Given the description of an element on the screen output the (x, y) to click on. 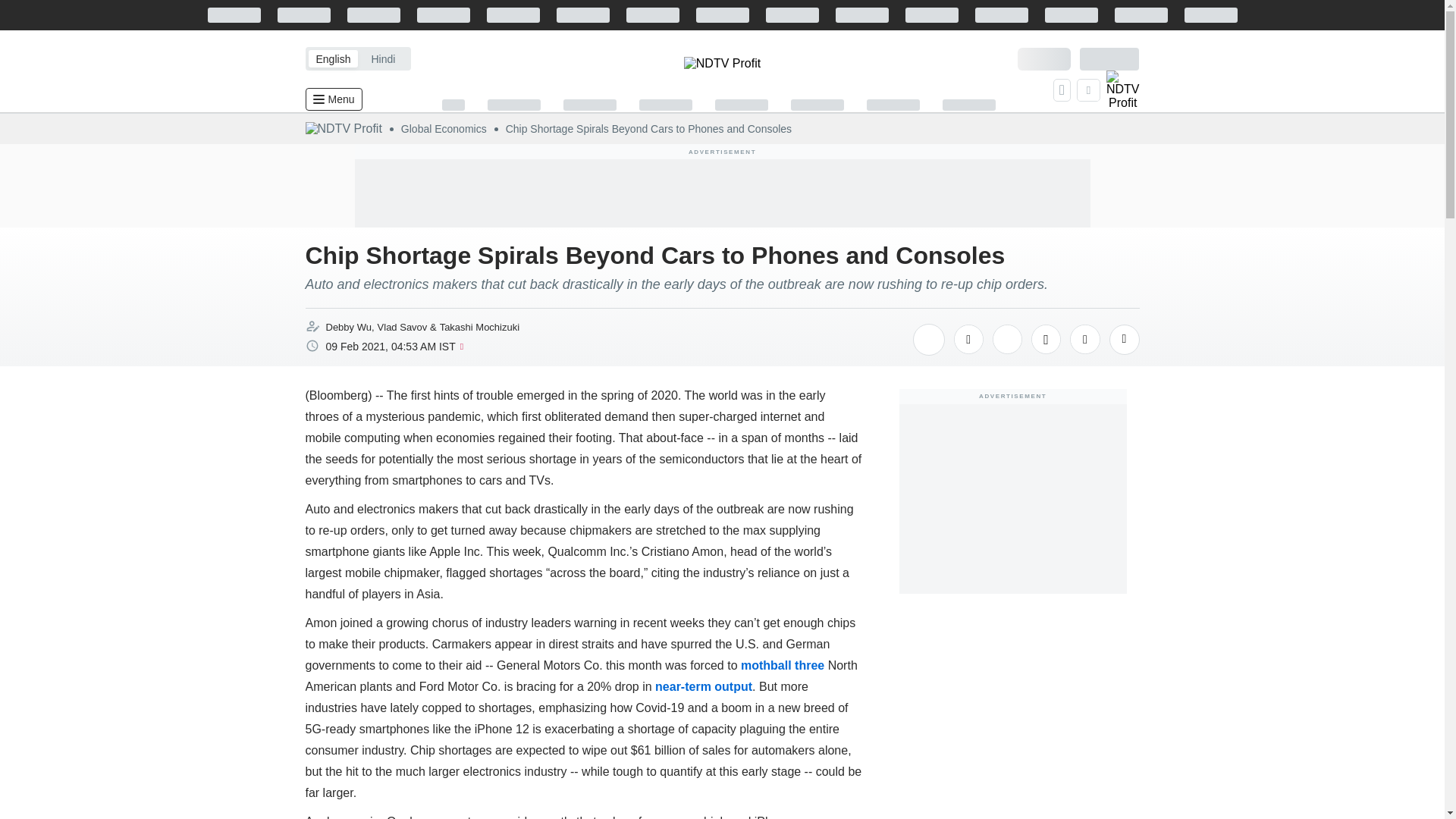
Hindi (382, 58)
English (332, 58)
Hindi (382, 58)
Menu (332, 98)
